Given the description of an element on the screen output the (x, y) to click on. 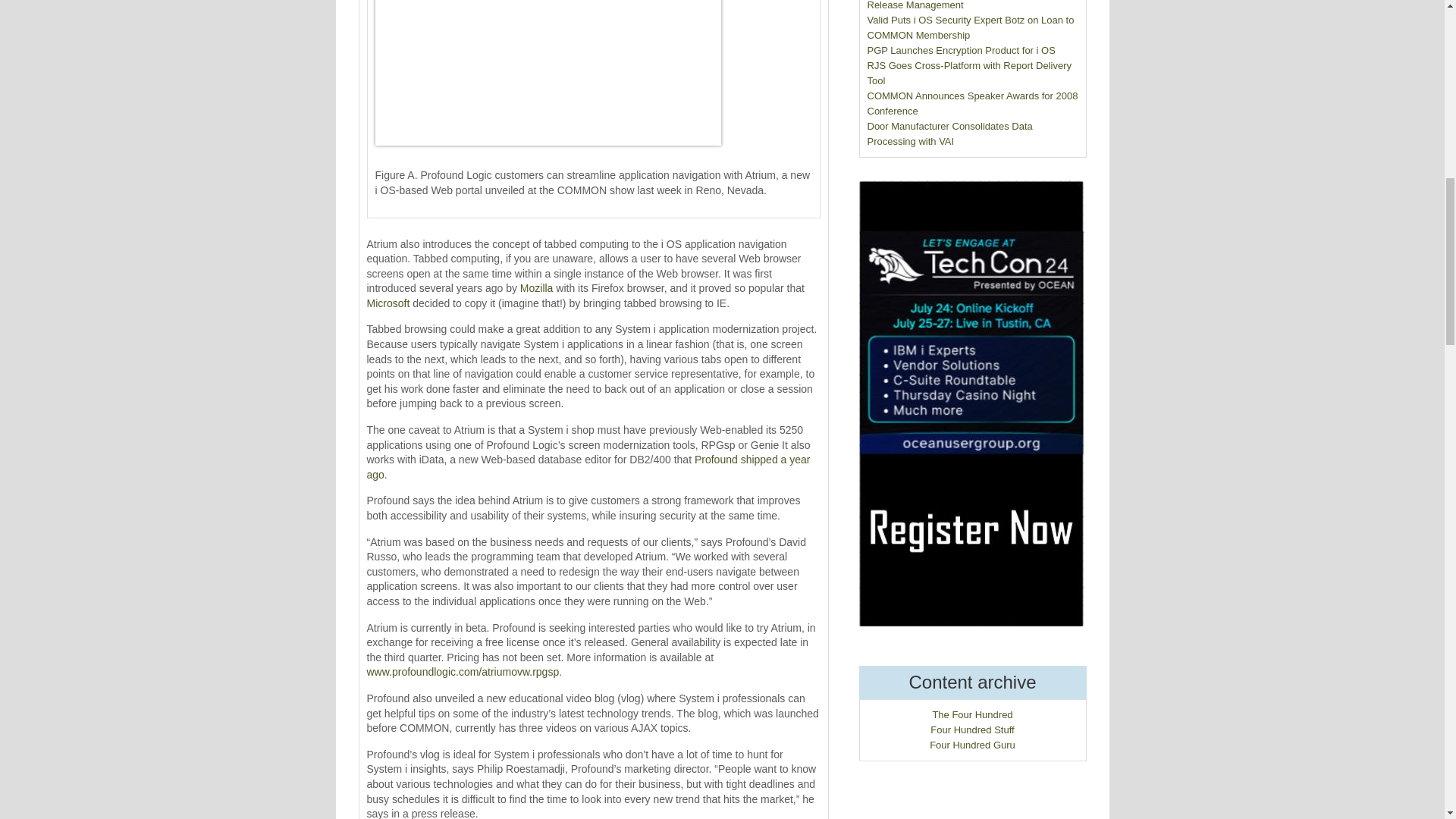
Mozilla (536, 287)
Microsoft (388, 303)
Profound shipped a year ago (588, 466)
